Given the description of an element on the screen output the (x, y) to click on. 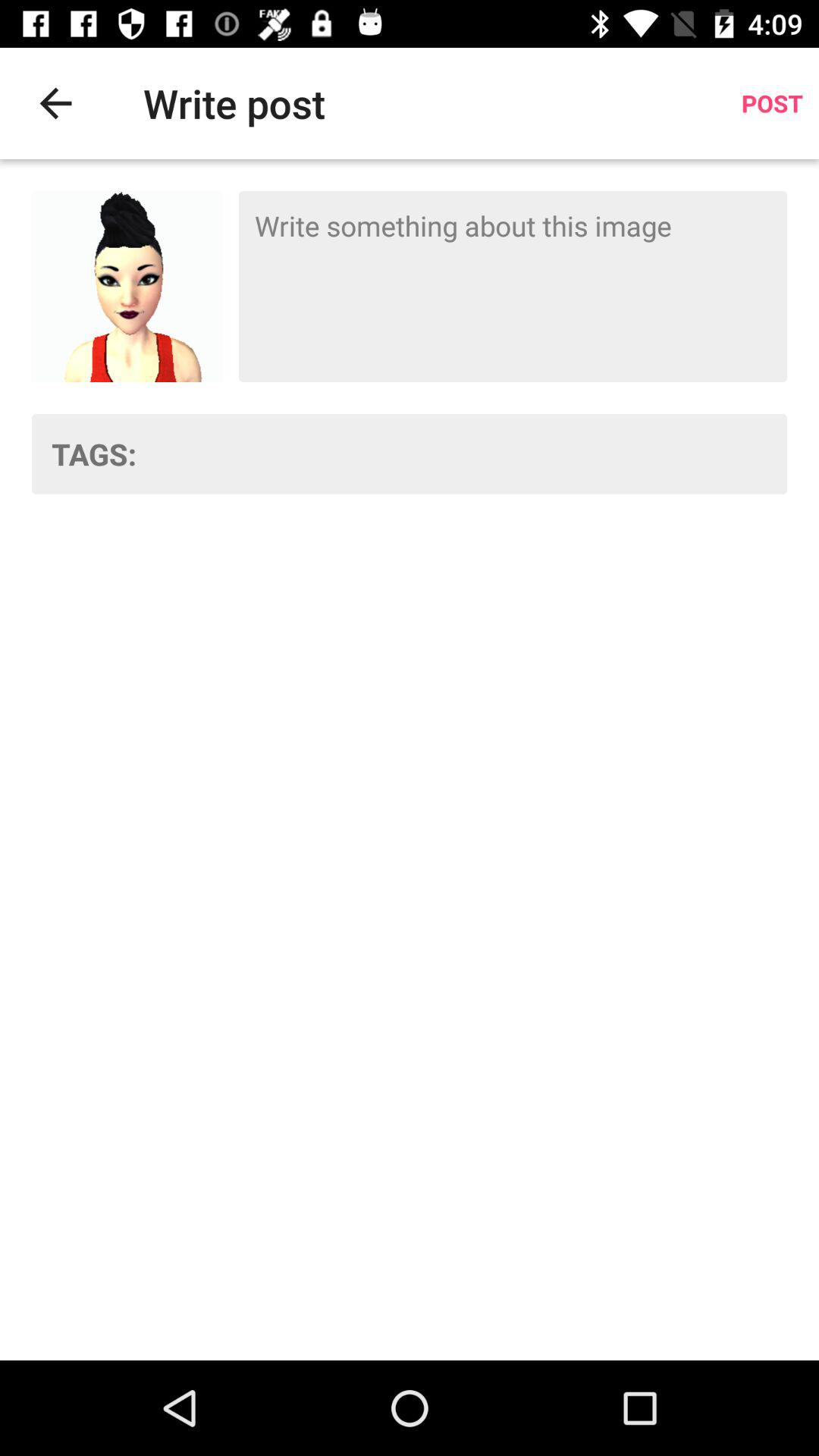
choose the item below the post (512, 286)
